Given the description of an element on the screen output the (x, y) to click on. 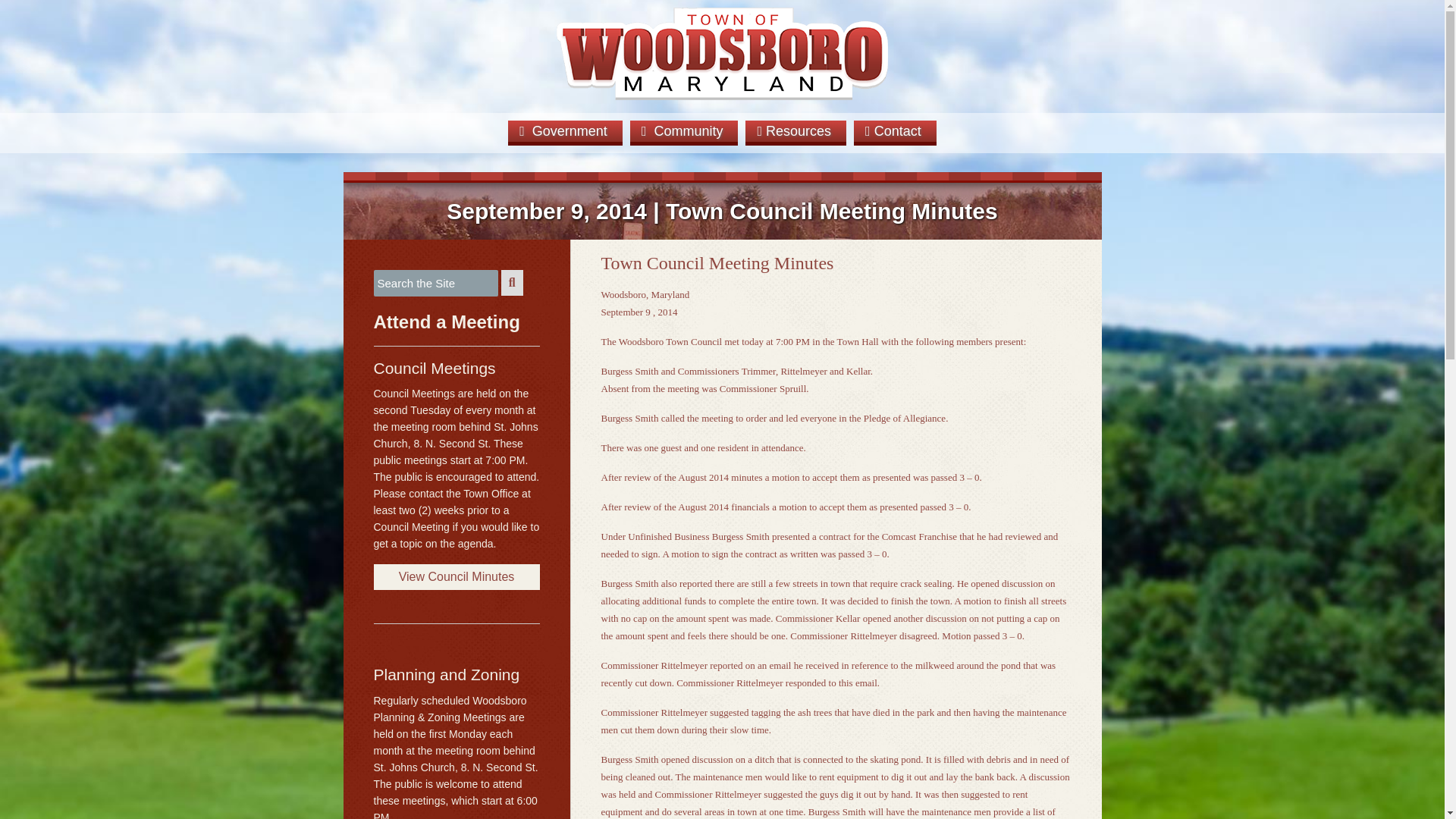
Government (565, 130)
Contact (894, 130)
Resources (795, 130)
Go to the Homepage (721, 103)
View Council Minutes (455, 576)
Community (684, 130)
